Given the description of an element on the screen output the (x, y) to click on. 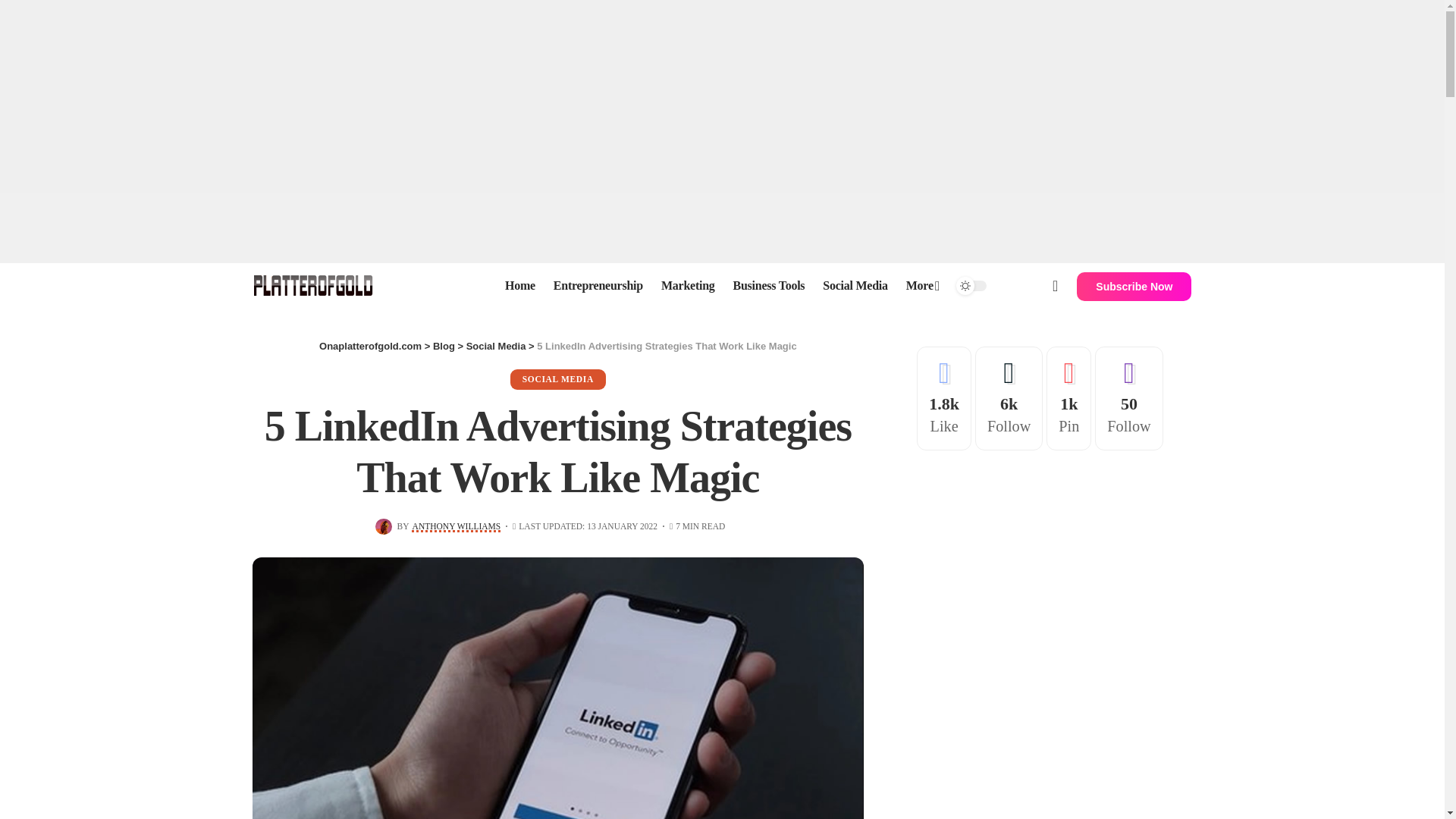
Go to the Social Media Category archives. (495, 346)
Home (520, 285)
More (922, 285)
Entrepreneurship (598, 285)
Subscribe Now (1134, 286)
Business Tools (768, 285)
Social Media (854, 285)
Go to Onaplatterofgold.com. (370, 346)
Marketing (687, 285)
Go to Blog. (443, 346)
